Given the description of an element on the screen output the (x, y) to click on. 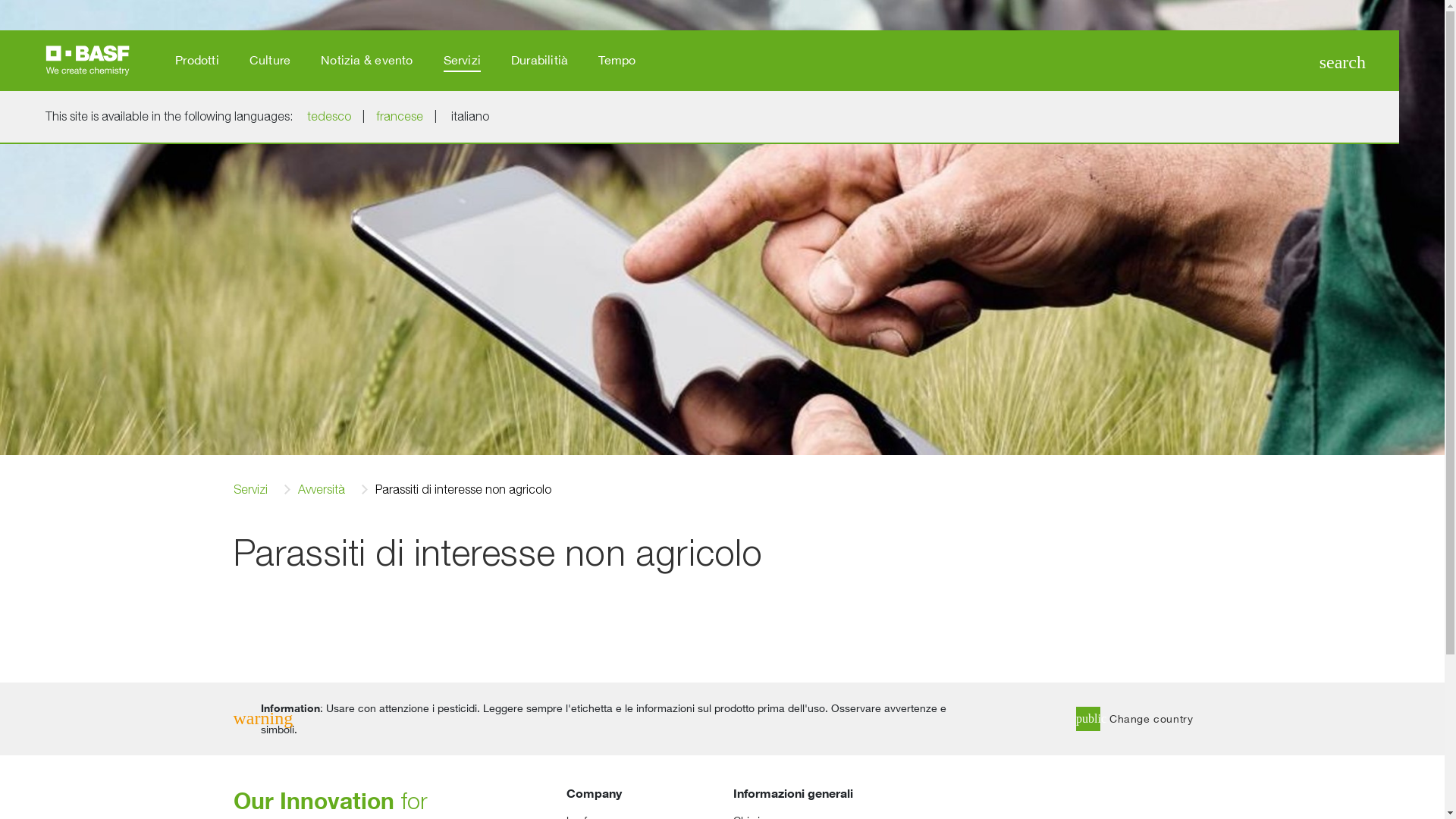
Servizi Element type: text (250, 489)
Tempo Element type: text (616, 60)
BASF Agricultural Solutions Svizzera Element type: hover (87, 58)
Servizi Element type: text (461, 60)
Notizia & evento Element type: text (366, 60)
tedesco Element type: text (329, 116)
francese Element type: text (399, 116)
Culture Element type: text (269, 60)
Prodotti Element type: text (197, 60)
public
Change country Element type: text (1143, 718)
